Given the description of an element on the screen output the (x, y) to click on. 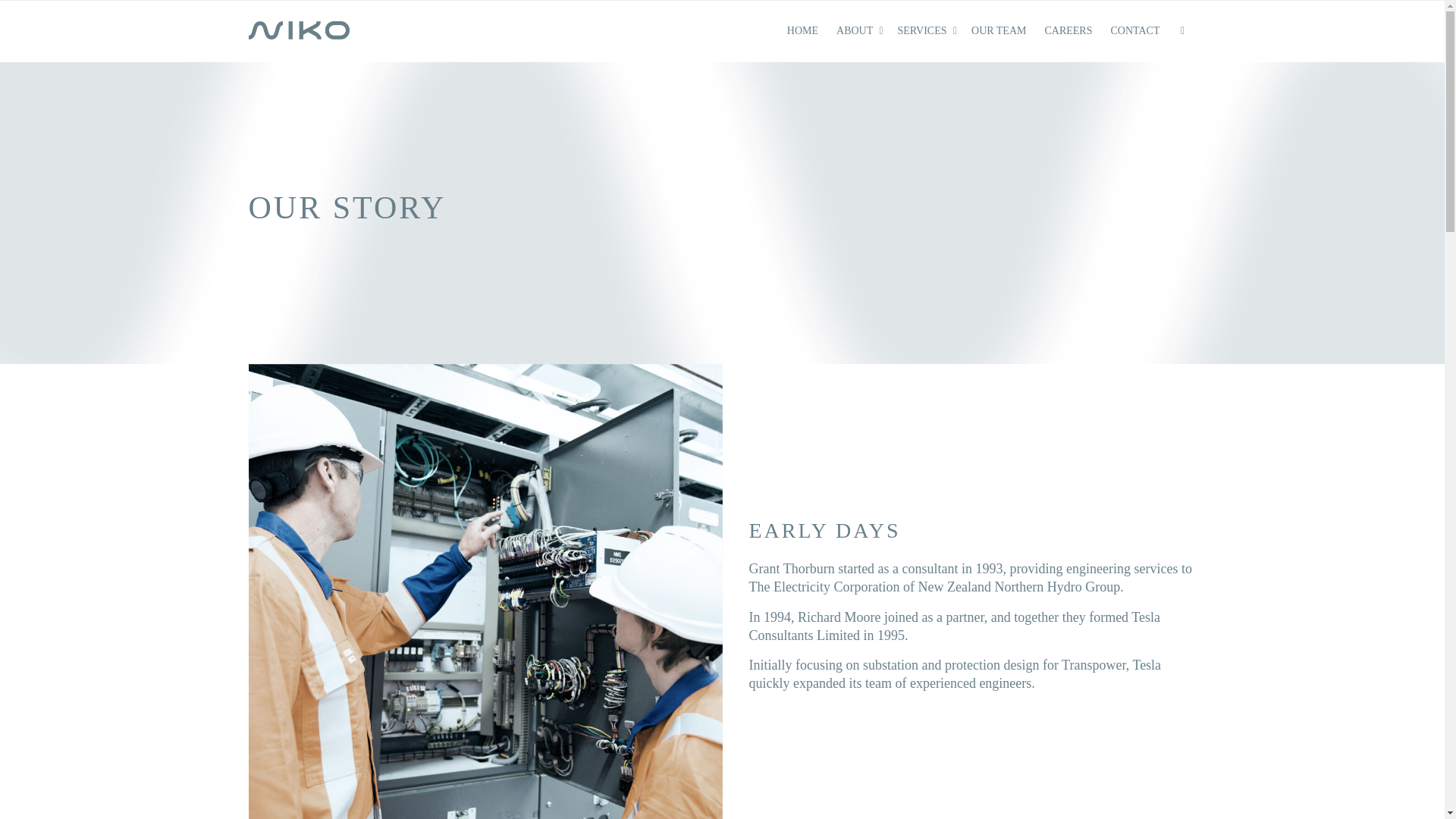
OUR TEAM (998, 30)
OUR TEAM (998, 30)
Niko (299, 30)
SERVICES (925, 30)
SERVICES (925, 30)
